Given the description of an element on the screen output the (x, y) to click on. 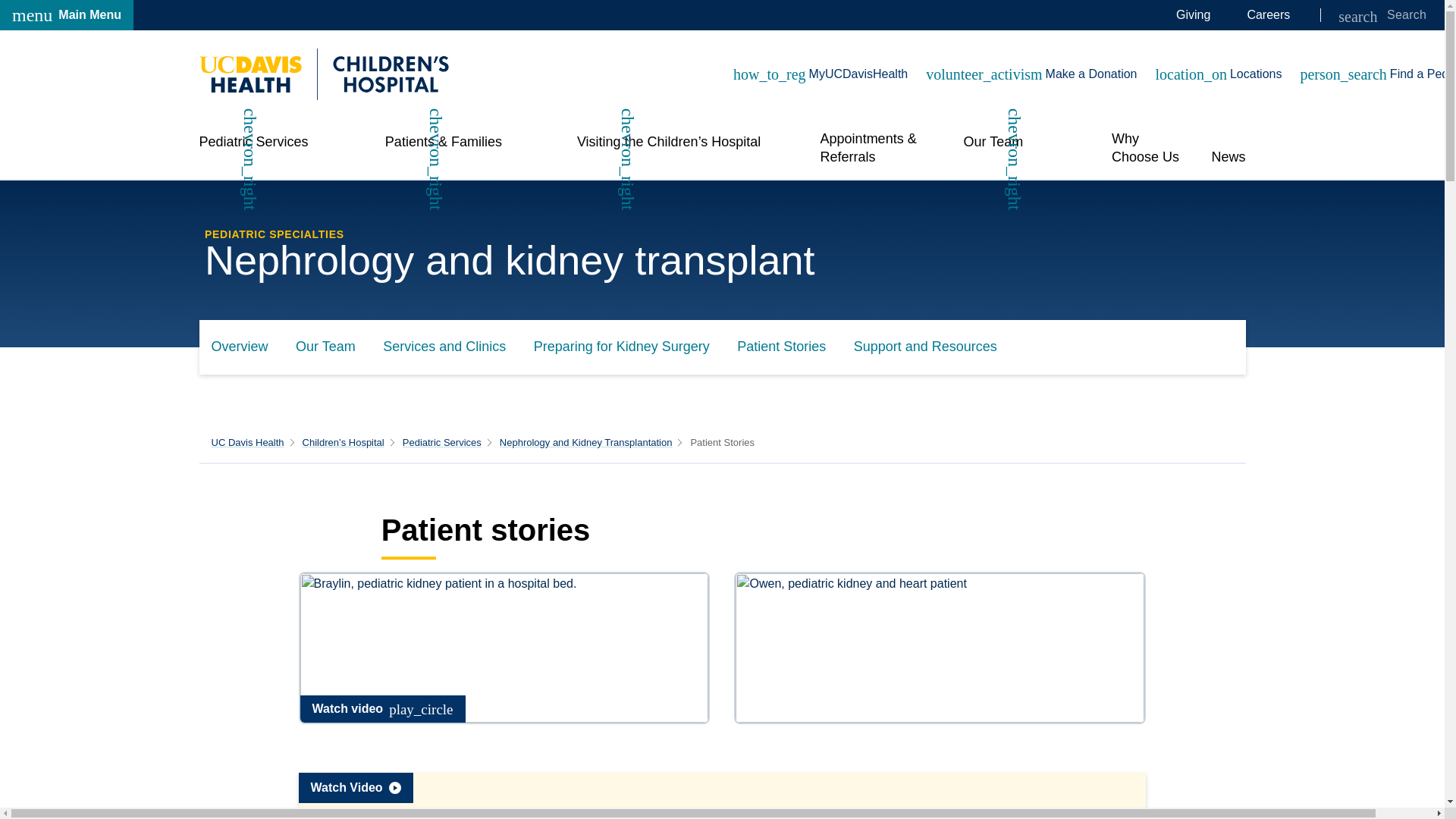
Play Video (722, 796)
Nephrology and Kidney Transplantation (585, 441)
Children's Hospital (323, 73)
Pediatric Services (442, 441)
UC Davis Health (247, 441)
Careers (66, 15)
Giving (1267, 15)
search Search (1192, 15)
